Given the description of an element on the screen output the (x, y) to click on. 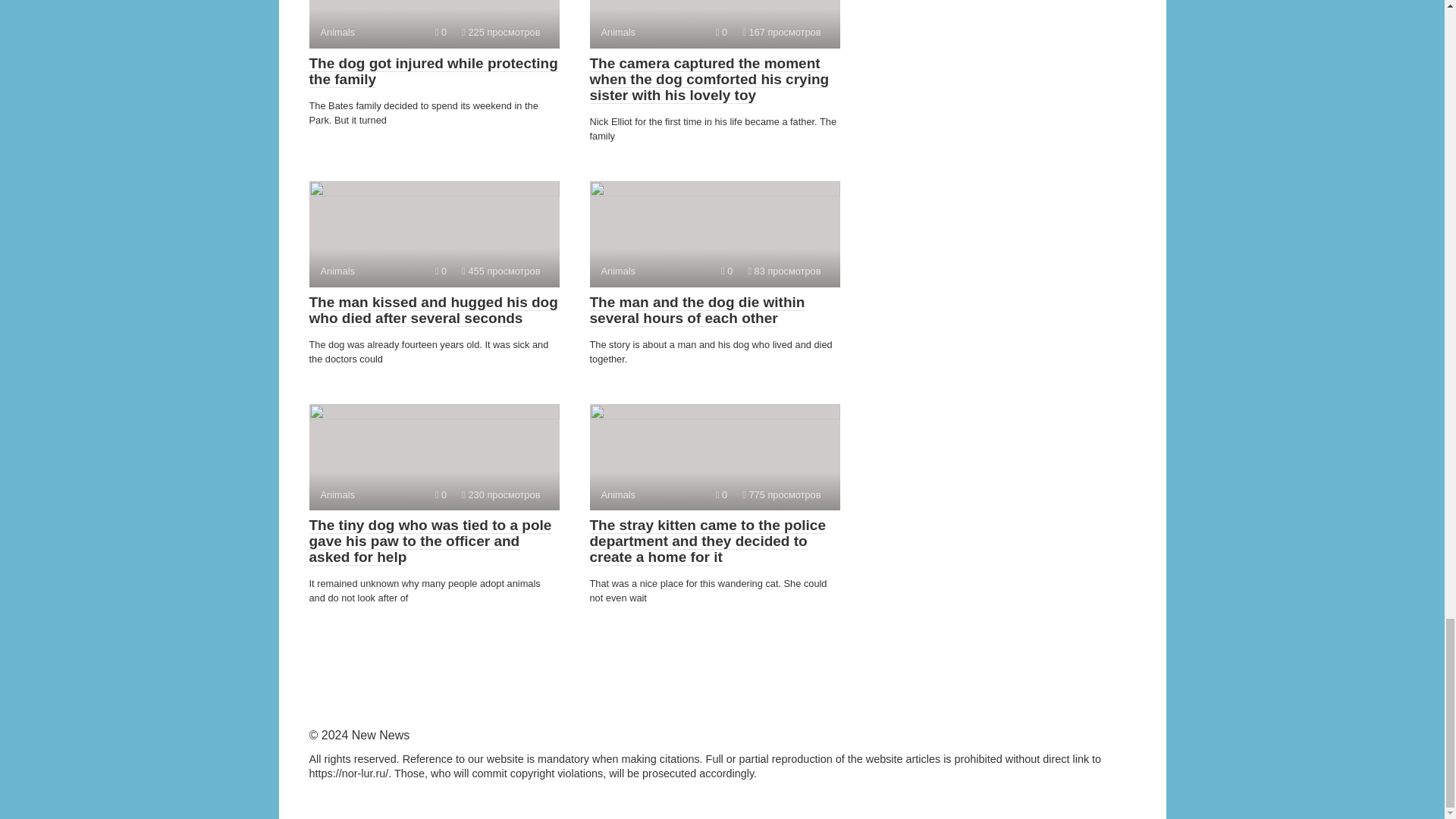
Comments (721, 494)
The man and the dog die within several hours of each other (697, 310)
The dog got injured while protecting the family (432, 71)
Views (781, 31)
Views (500, 494)
Views (500, 31)
Views (500, 270)
Comments (440, 270)
